Given the description of an element on the screen output the (x, y) to click on. 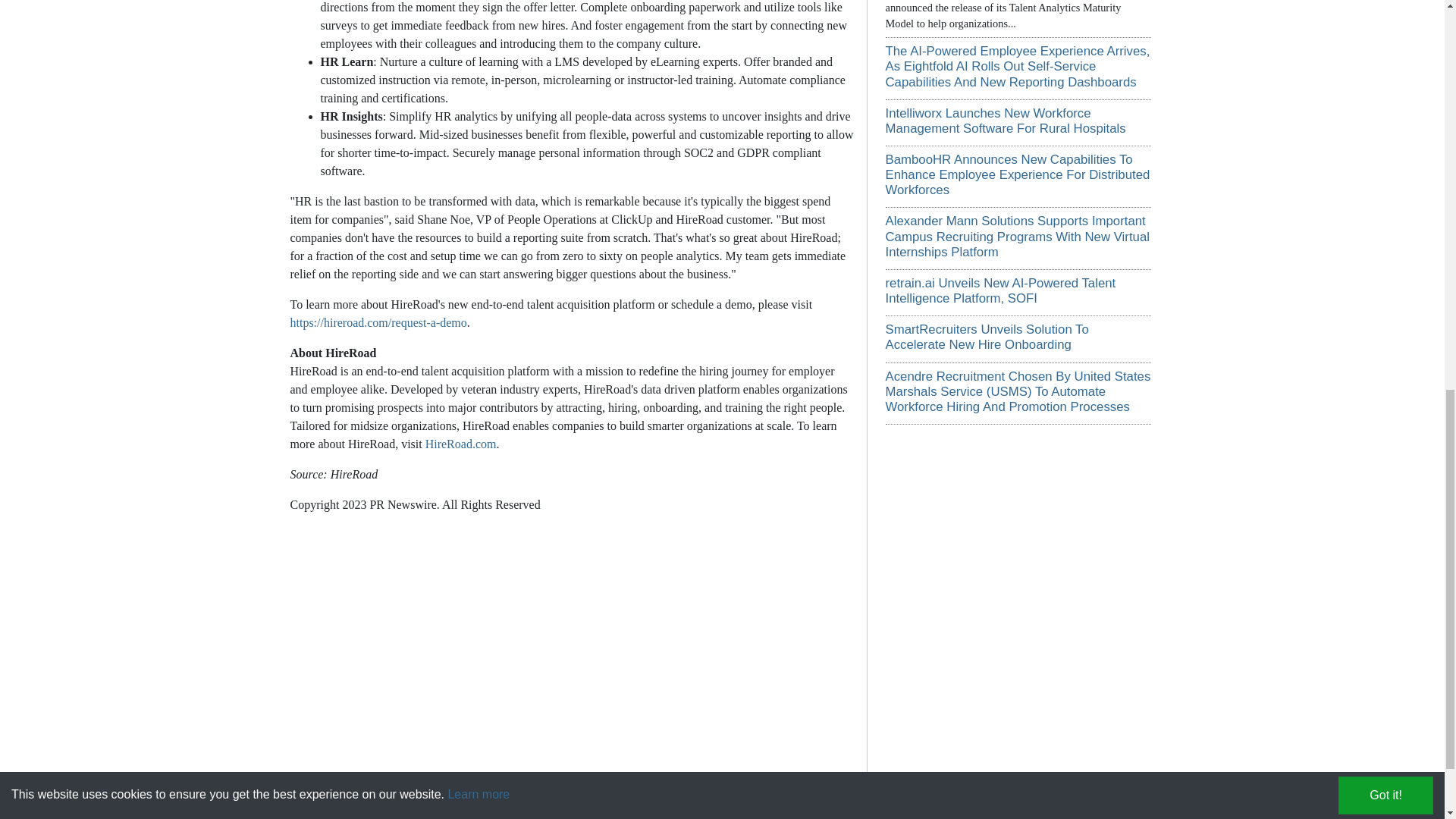
3rd party ad content (1018, 538)
3rd party ad content (959, 692)
HireRoad.com (460, 443)
